Given the description of an element on the screen output the (x, y) to click on. 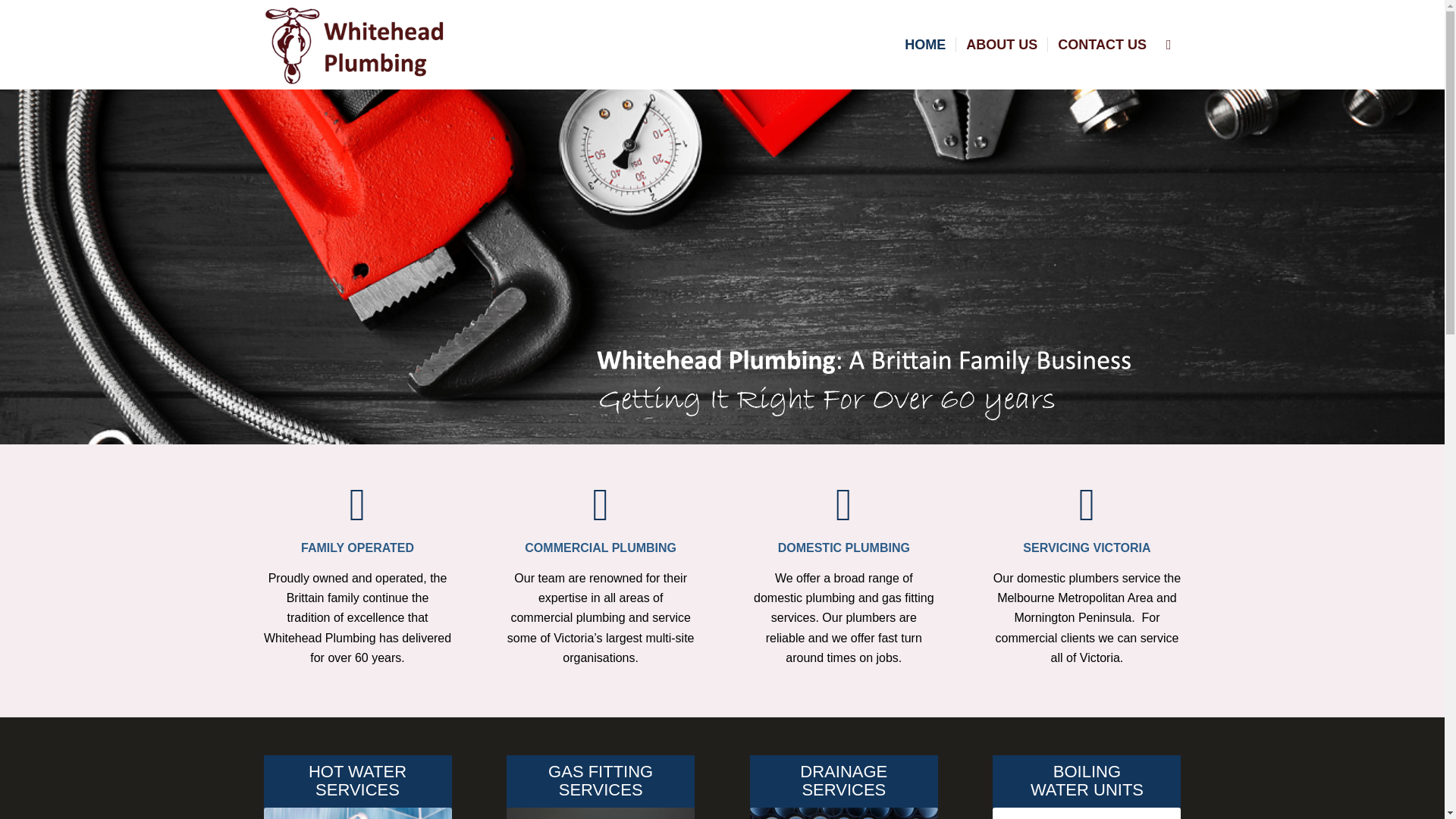
WP Logo Wes2 (360, 44)
CONTACT US (1101, 44)
ABOUT US (1000, 44)
